Given the description of an element on the screen output the (x, y) to click on. 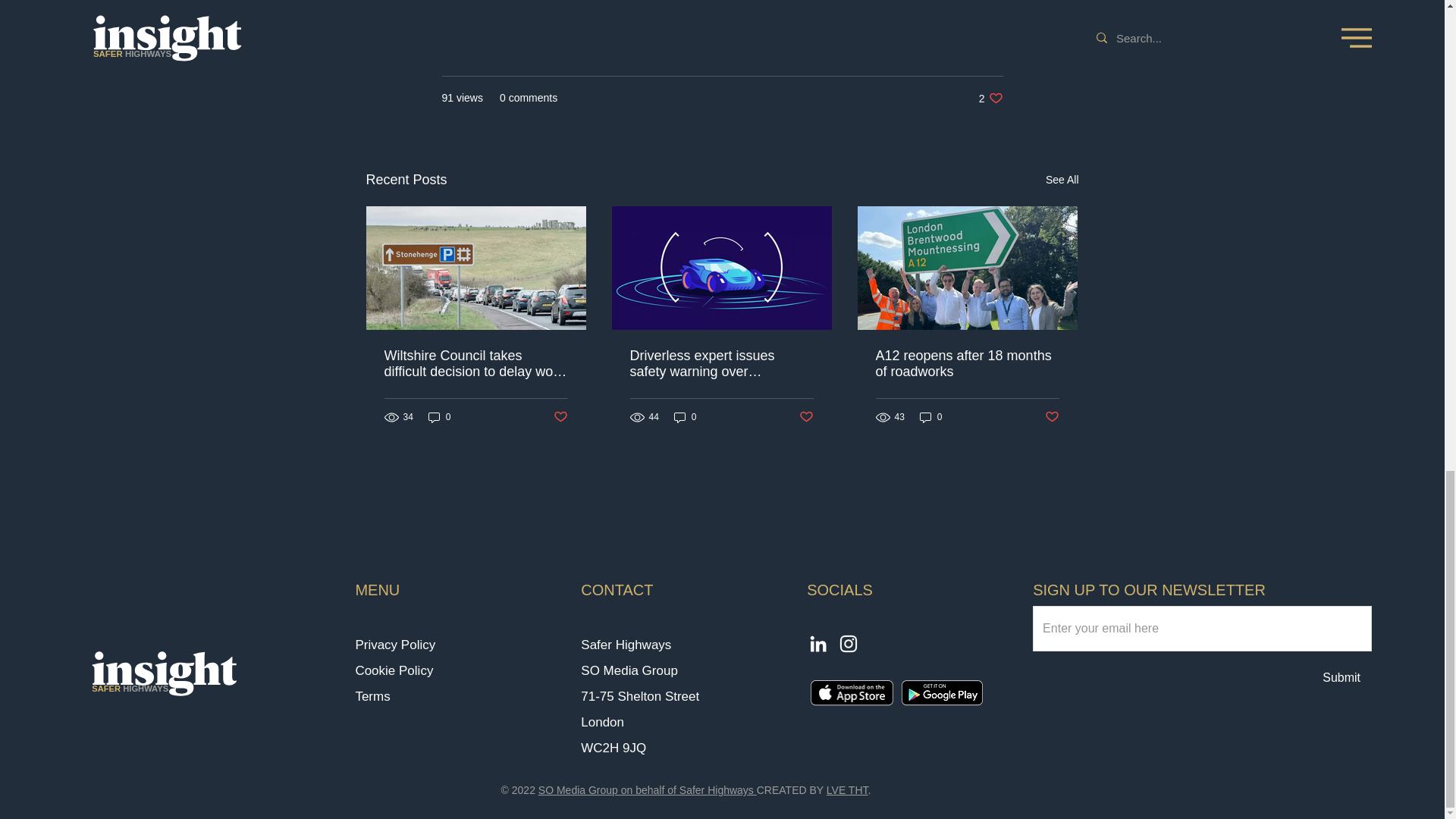
0 (164, 673)
SO Media Group on behalf of Safer Highways  (685, 417)
See All (647, 789)
0 (1061, 179)
Post not marked as liked (439, 417)
LVE THT (806, 417)
A12 reopens after 18 months of roadworks (847, 789)
